Given the description of an element on the screen output the (x, y) to click on. 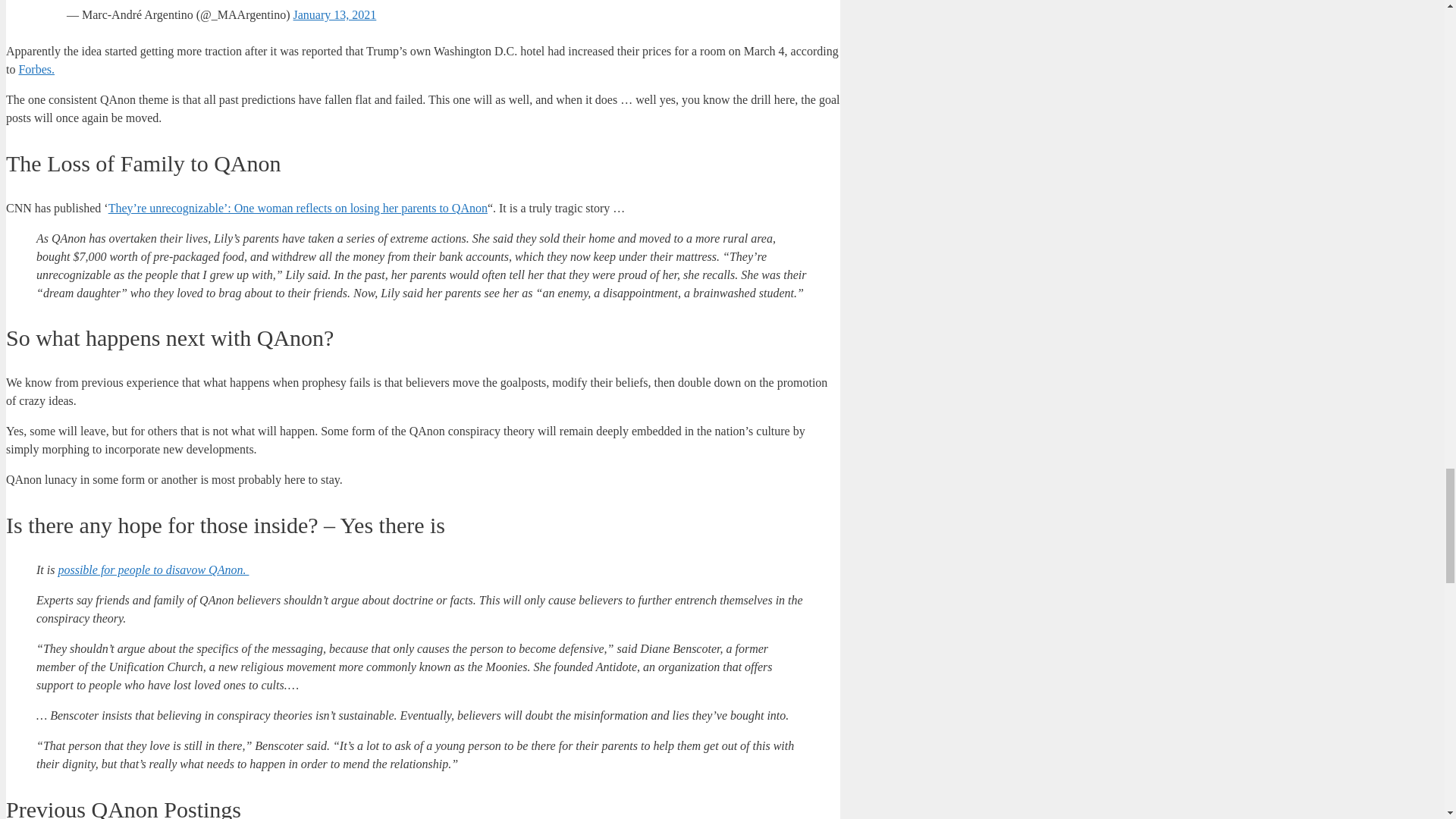
Forbes. (36, 69)
January 13, 2021 (335, 14)
